Given the description of an element on the screen output the (x, y) to click on. 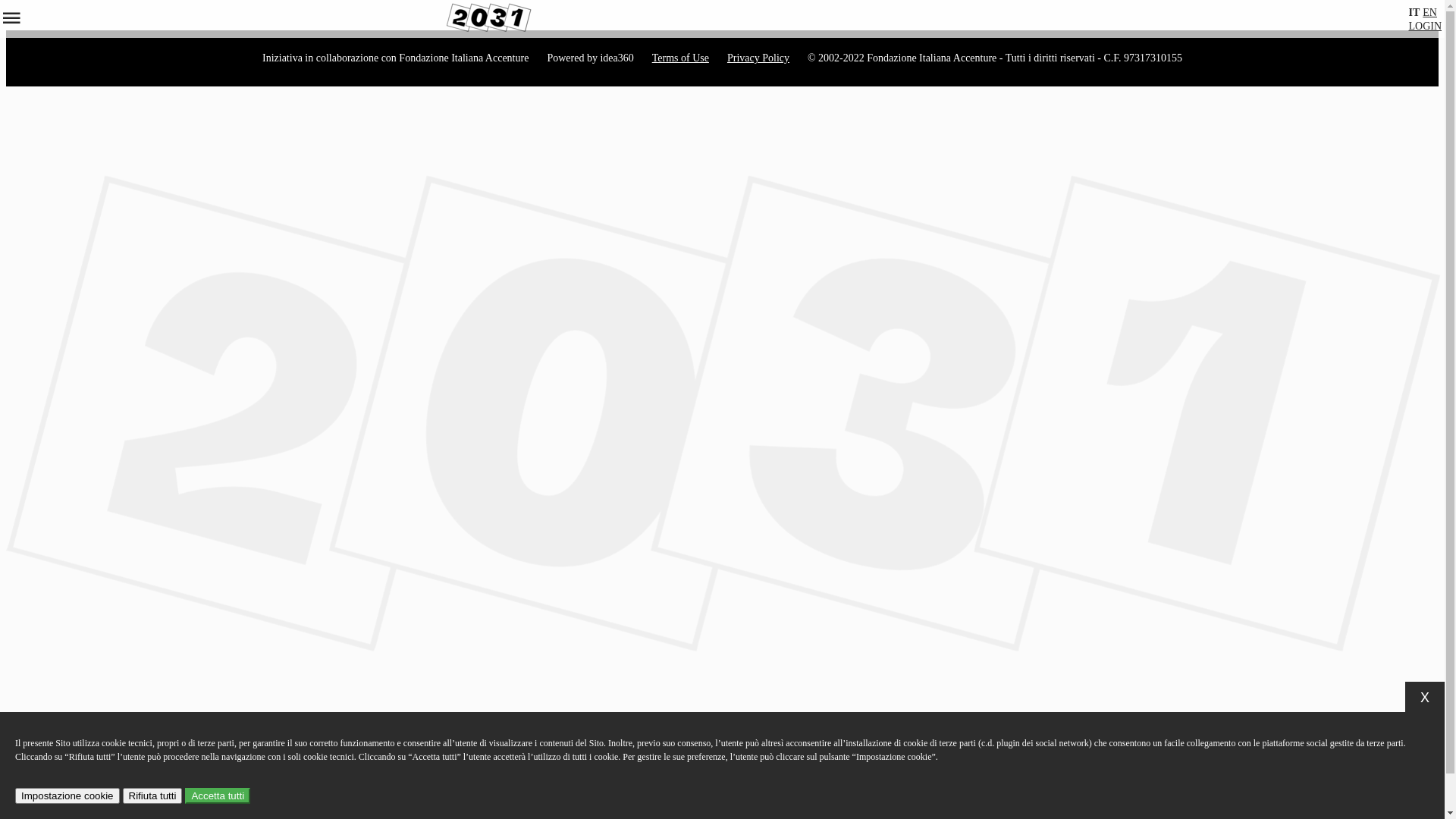
Privacy Policy Element type: text (758, 58)
Accetta tutti Element type: text (217, 795)
Impostazione cookie Element type: text (67, 795)
Terms of Use Element type: text (680, 58)
Rifiuta tutti Element type: text (152, 795)
EN Element type: text (1429, 12)
LOGIN Element type: text (1425, 25)
